Given the description of an element on the screen output the (x, y) to click on. 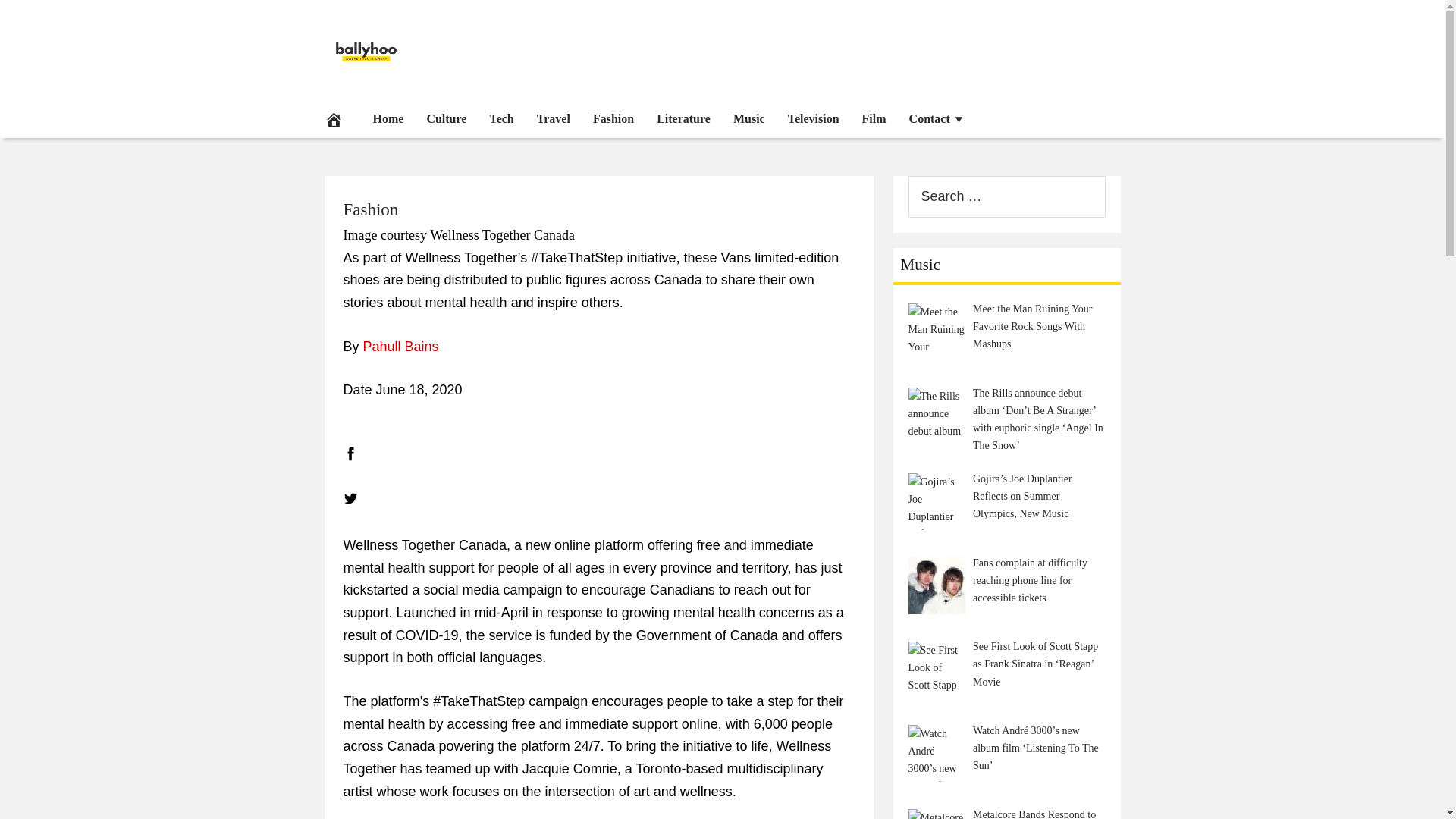
Literature (683, 118)
Fashion (369, 209)
Contact (937, 118)
Home (387, 118)
Music (749, 118)
Film (874, 118)
Television (813, 118)
icon-facebook (349, 453)
Fashion (612, 118)
